Given the description of an element on the screen output the (x, y) to click on. 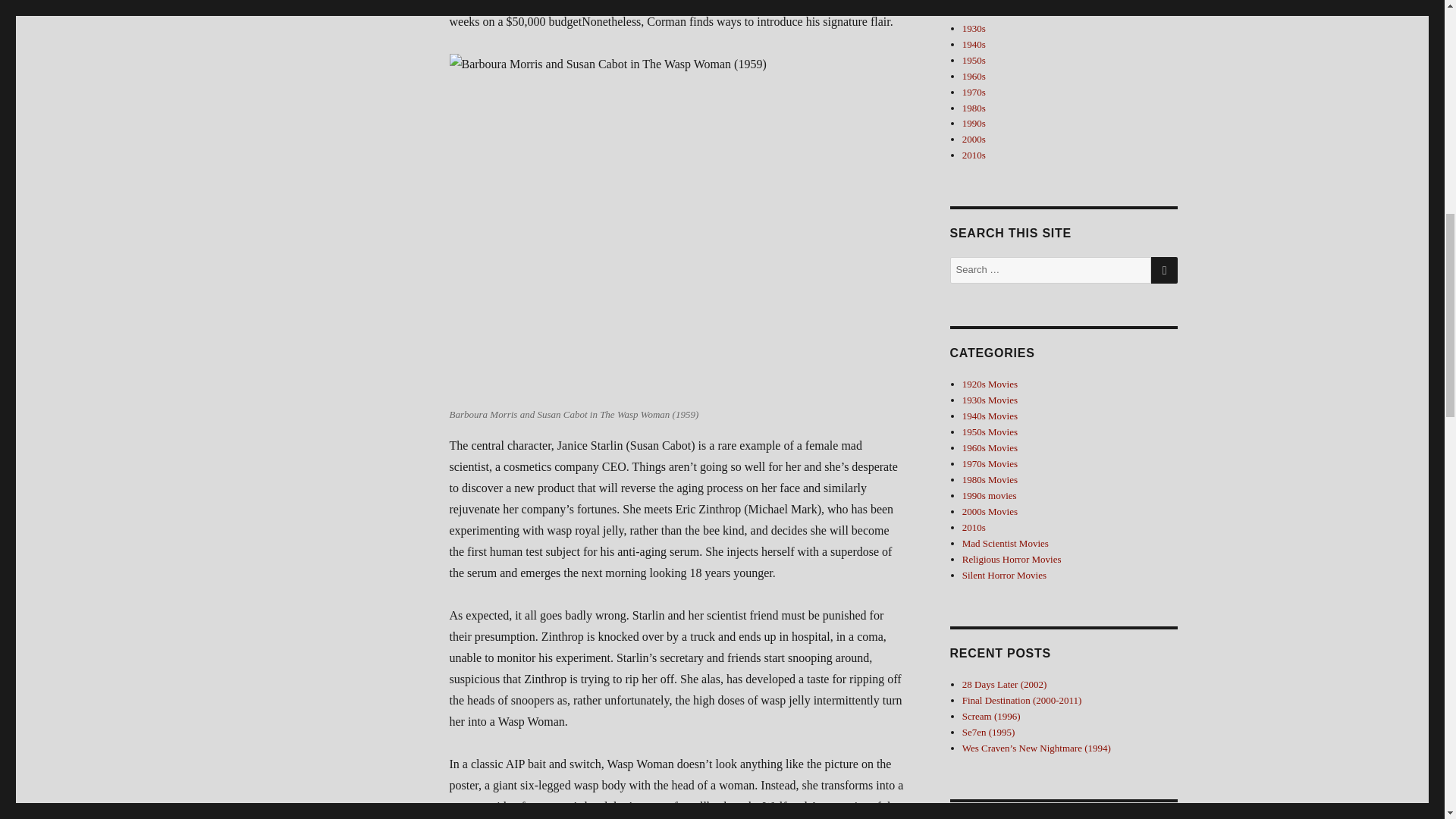
1960s (973, 75)
1890s-1900s (986, 1)
1920s (973, 12)
1970s (973, 91)
1950s (973, 60)
1940s (973, 43)
1930s (973, 28)
